Given the description of an element on the screen output the (x, y) to click on. 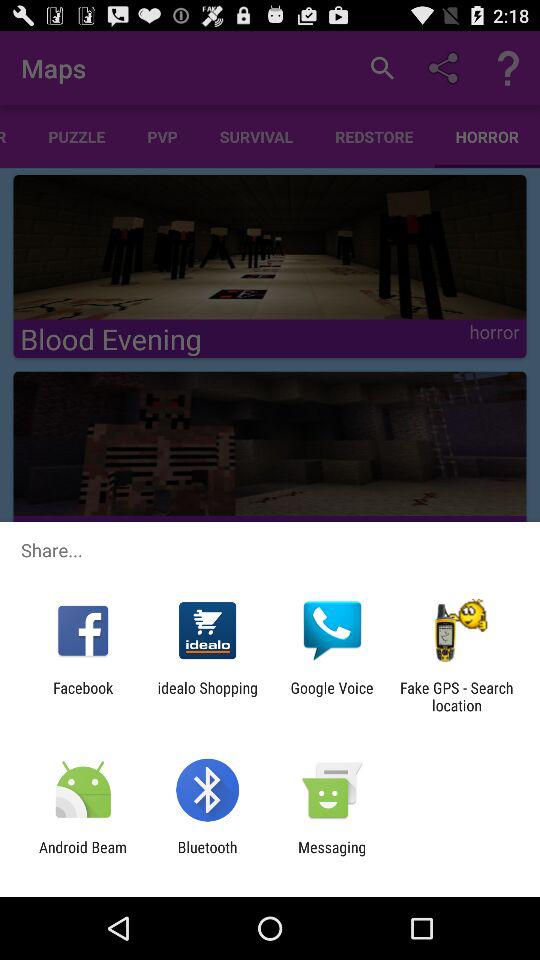
tap icon next to the bluetooth item (83, 856)
